Given the description of an element on the screen output the (x, y) to click on. 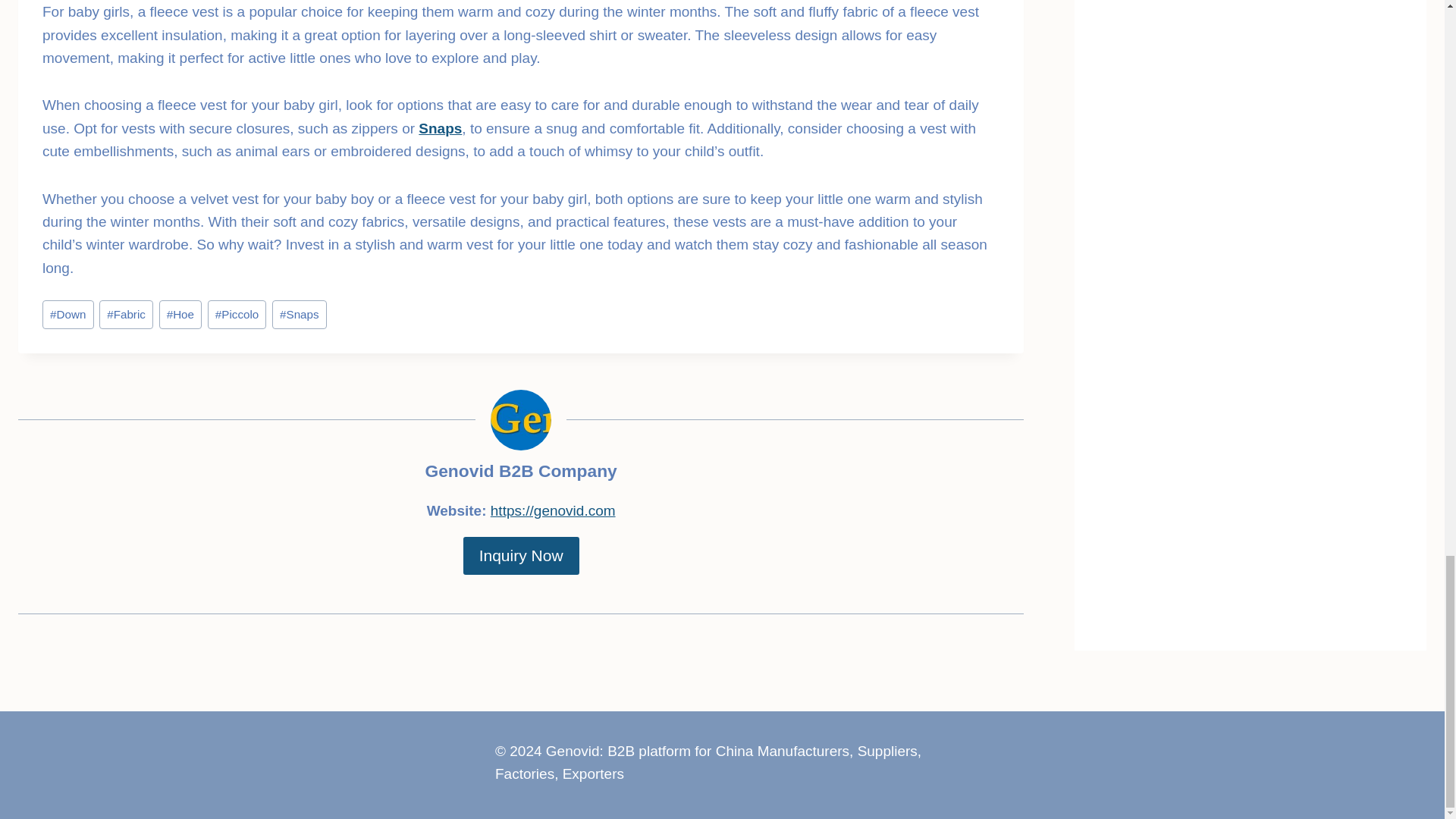
Hoe (180, 314)
Fabric (125, 314)
Snaps (440, 128)
Snaps (299, 314)
Down (68, 314)
Piccolo (237, 314)
